Given the description of an element on the screen output the (x, y) to click on. 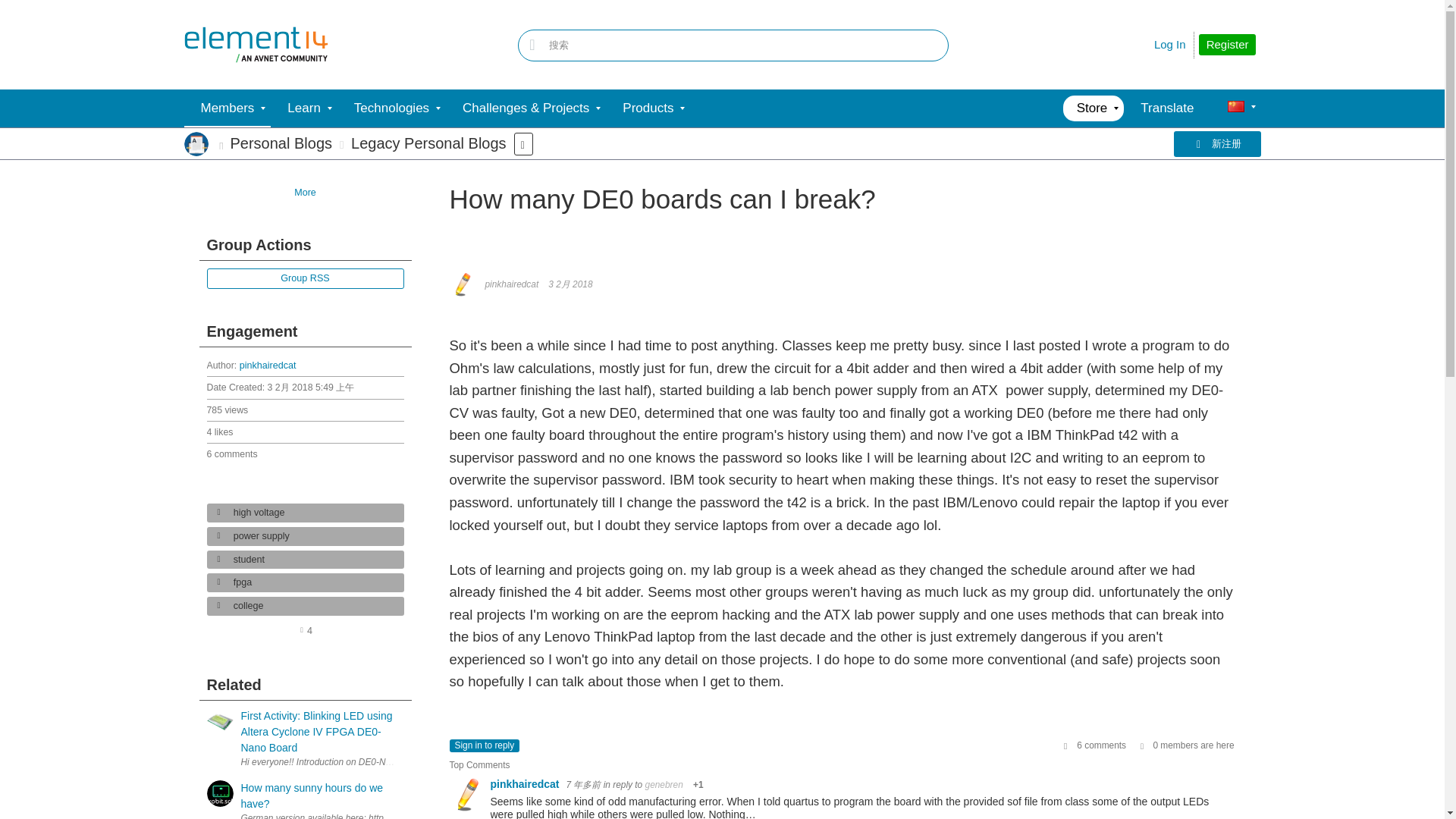
Register (1226, 44)
Learn (303, 108)
Technologies (391, 108)
Log In (1170, 44)
Log In (1170, 44)
Register (1226, 44)
Members (226, 108)
